Given the description of an element on the screen output the (x, y) to click on. 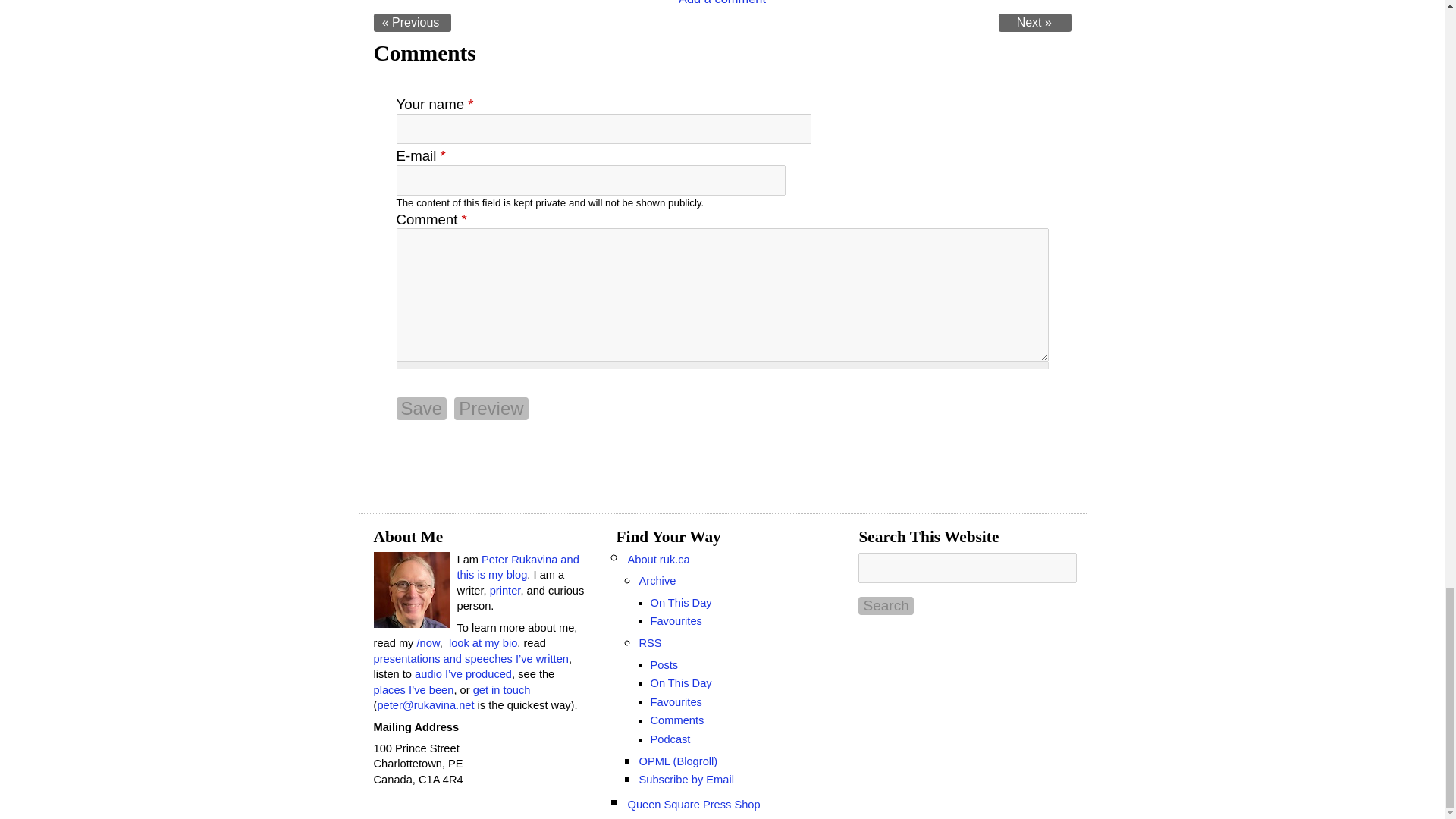
Blog posts written in the past on this day of this month. (680, 603)
Preview (490, 408)
Monthly archive of all posts on this site. (657, 580)
Preview (490, 408)
Save (421, 408)
get in touch (502, 689)
Archive (657, 580)
look at my bio (482, 643)
My favourite posts from other people's blogs. (675, 621)
printer (505, 590)
